Given the description of an element on the screen output the (x, y) to click on. 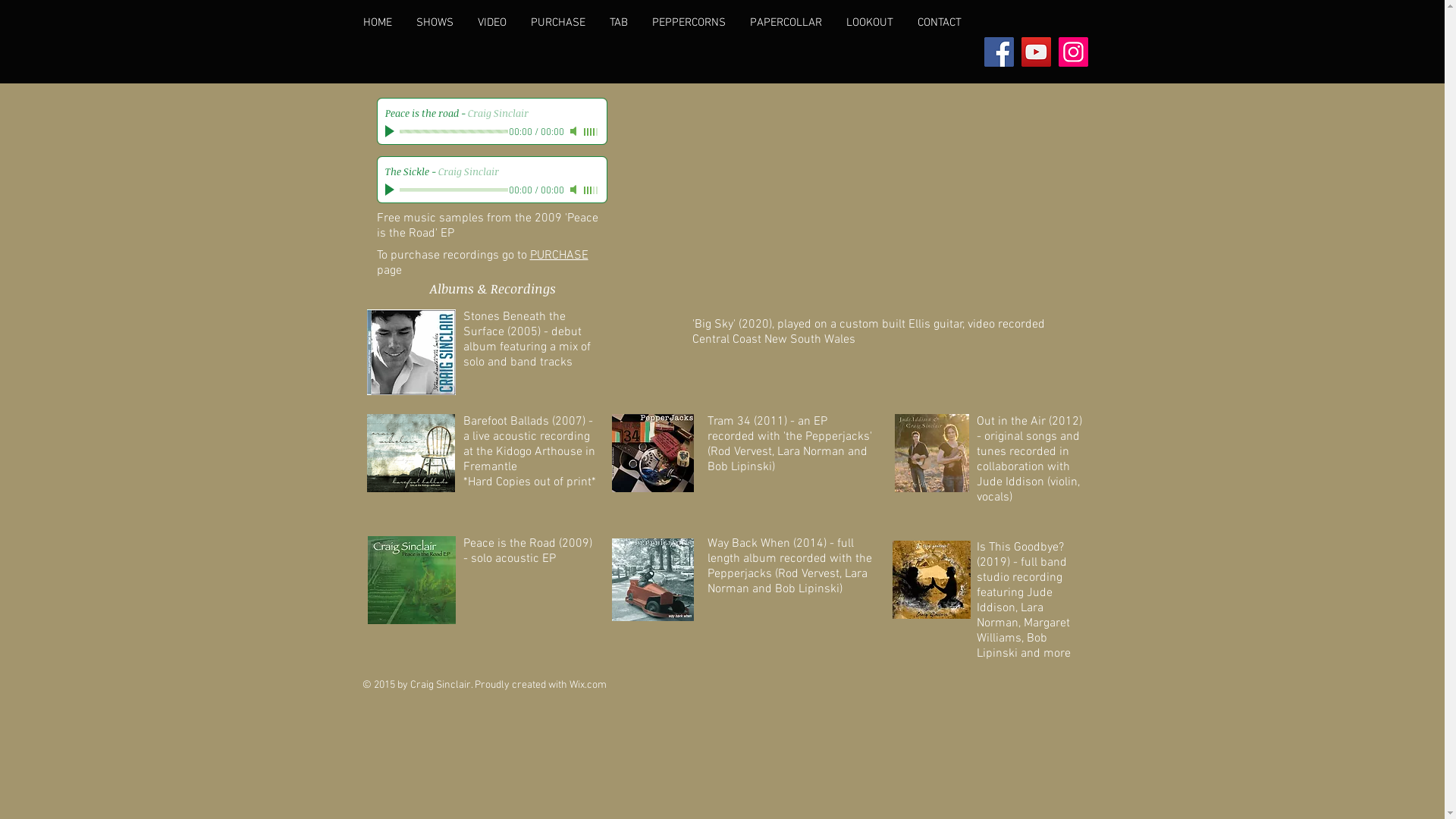
VIDEO Element type: text (491, 22)
CONTACT Element type: text (939, 22)
Wix.com Element type: text (586, 684)
PURCHASE Element type: text (557, 22)
PAPERCOLLAR Element type: text (785, 22)
PURCHASE Element type: text (558, 255)
External YouTube Element type: hover (872, 202)
LOOKOUT Element type: text (869, 22)
HOME Element type: text (376, 22)
TAB Element type: text (618, 22)
SHOWS Element type: text (433, 22)
PEPPERCORNS Element type: text (688, 22)
